Given the description of an element on the screen output the (x, y) to click on. 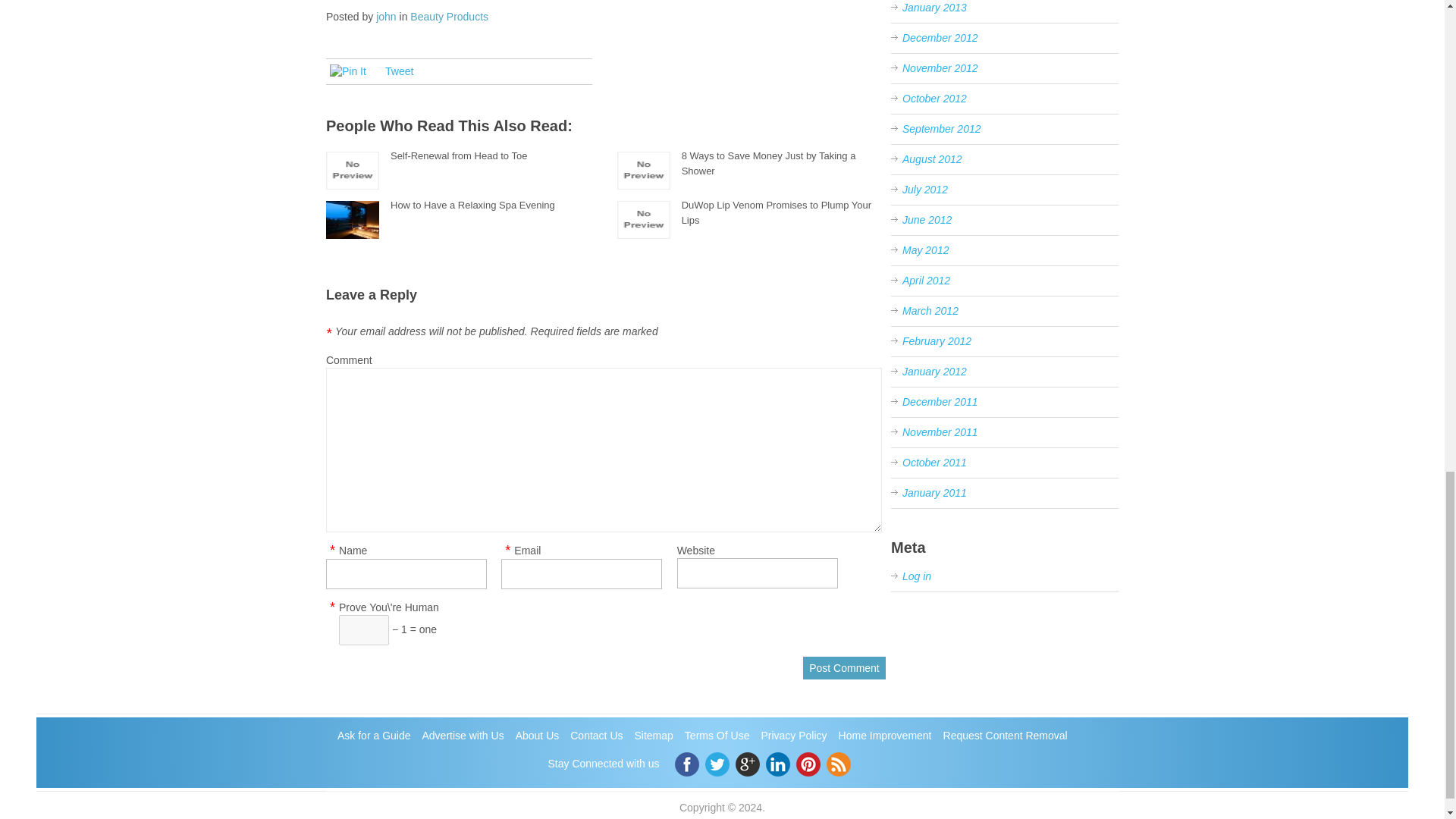
Self-Renewal from Head to Toe (458, 155)
Post Comment (844, 667)
DuWop Lip Venom Promises to Plump Your Lips (776, 212)
Post Comment (844, 667)
How to Have a Relaxing Spa Evening (472, 204)
john (385, 16)
Tweet (399, 70)
Beauty Products (448, 16)
8 Ways to Save Money Just by Taking a Shower (768, 162)
